Given the description of an element on the screen output the (x, y) to click on. 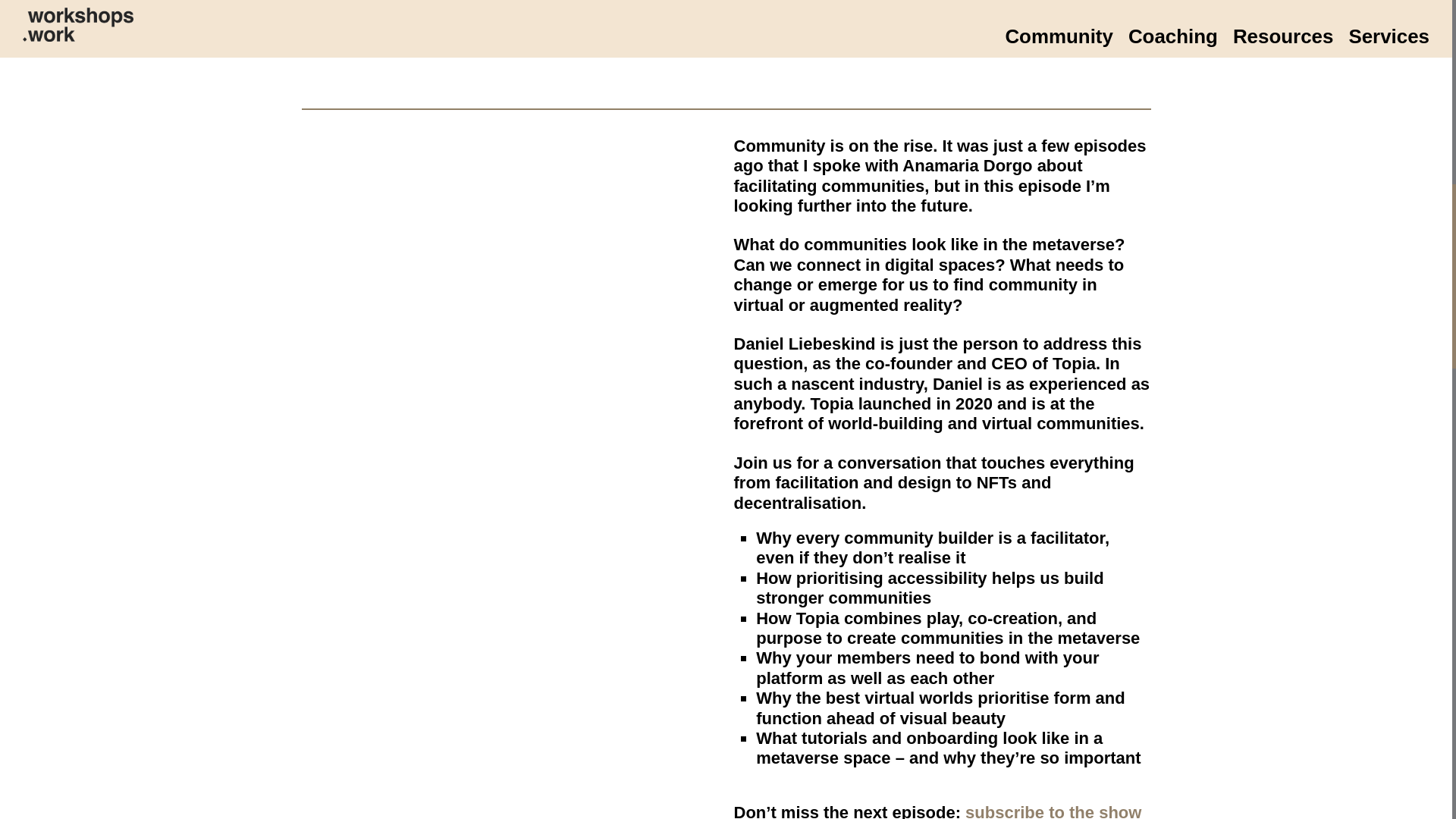
subscribe to the show (1053, 811)
Sign up for instant access (942, 31)
